Given the description of an element on the screen output the (x, y) to click on. 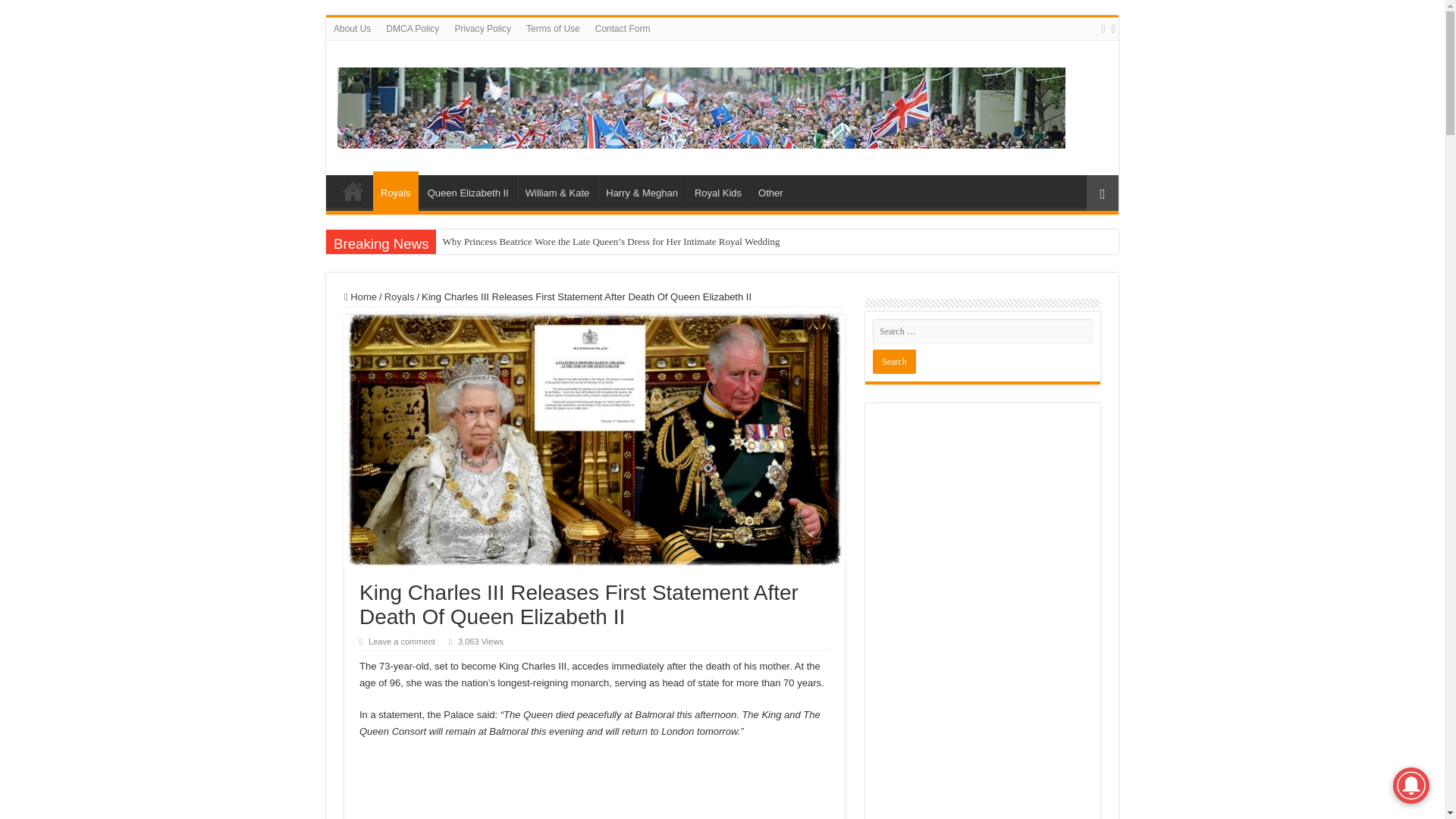
Terms of Use (553, 28)
About Us (352, 28)
Advertisement (594, 787)
Royal Kids (717, 191)
Royals (395, 190)
Queen Elizabeth II (467, 191)
Search (893, 361)
Home (352, 191)
Leave a comment (401, 641)
Contact Form (623, 28)
